Given the description of an element on the screen output the (x, y) to click on. 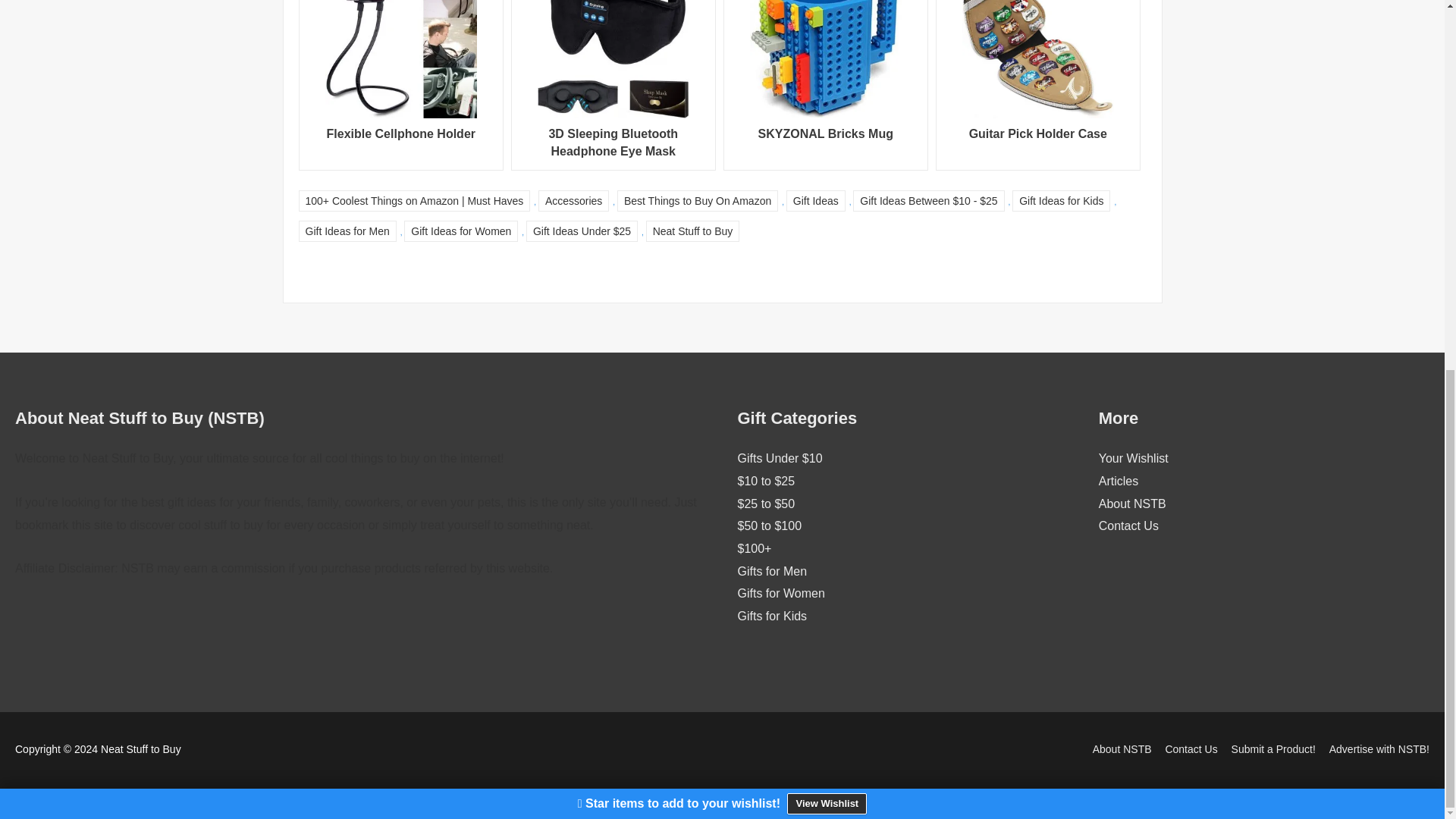
3D Sleeping Bluetooth Headphone Eye Mask (613, 85)
Flexible Cellphone Holder (400, 85)
SKYZONAL Bricks Mug (825, 85)
Guitar Pick Holder Case (1038, 85)
